Given the description of an element on the screen output the (x, y) to click on. 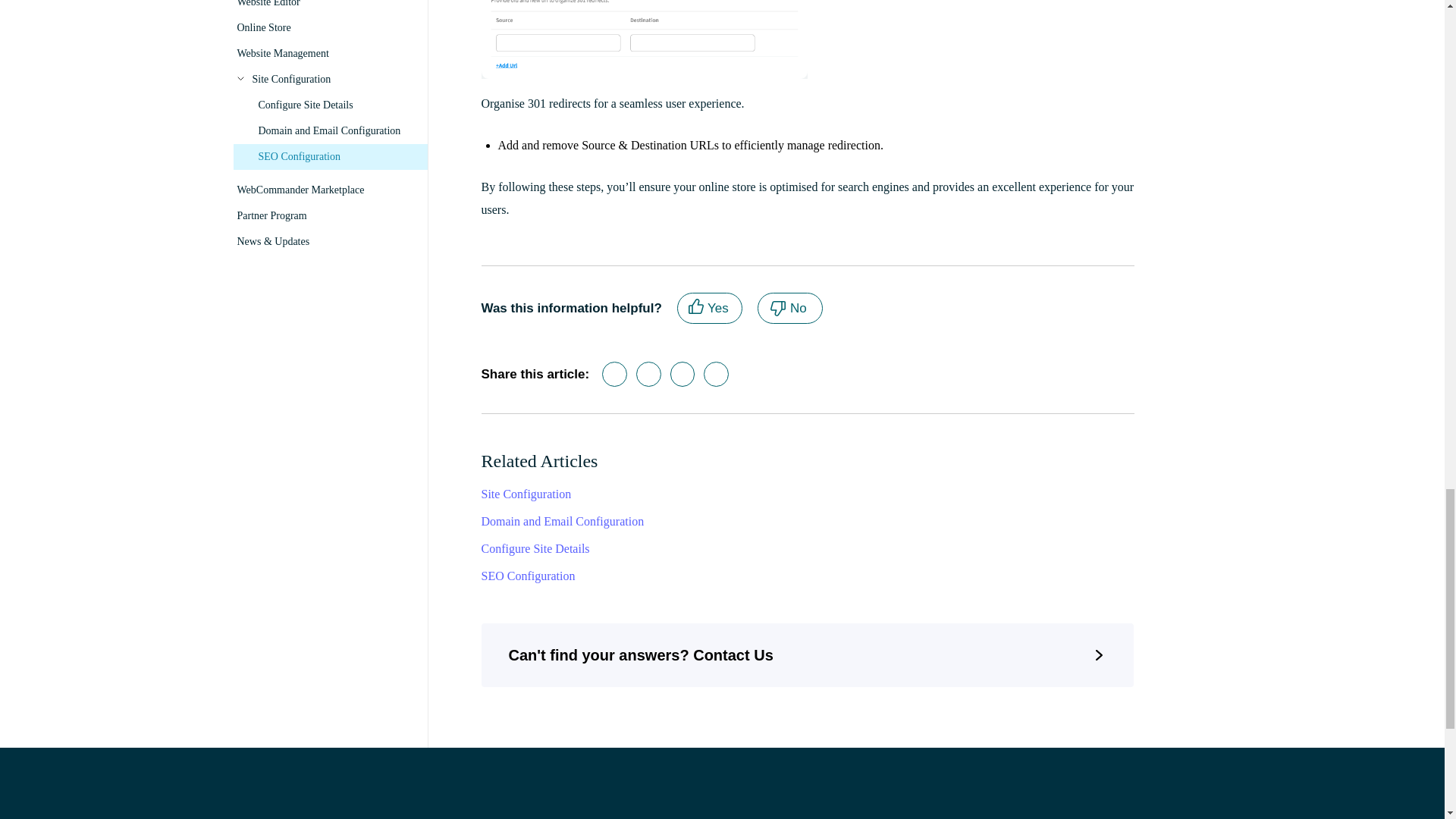
SEO Configuration (716, 373)
